Given the description of an element on the screen output the (x, y) to click on. 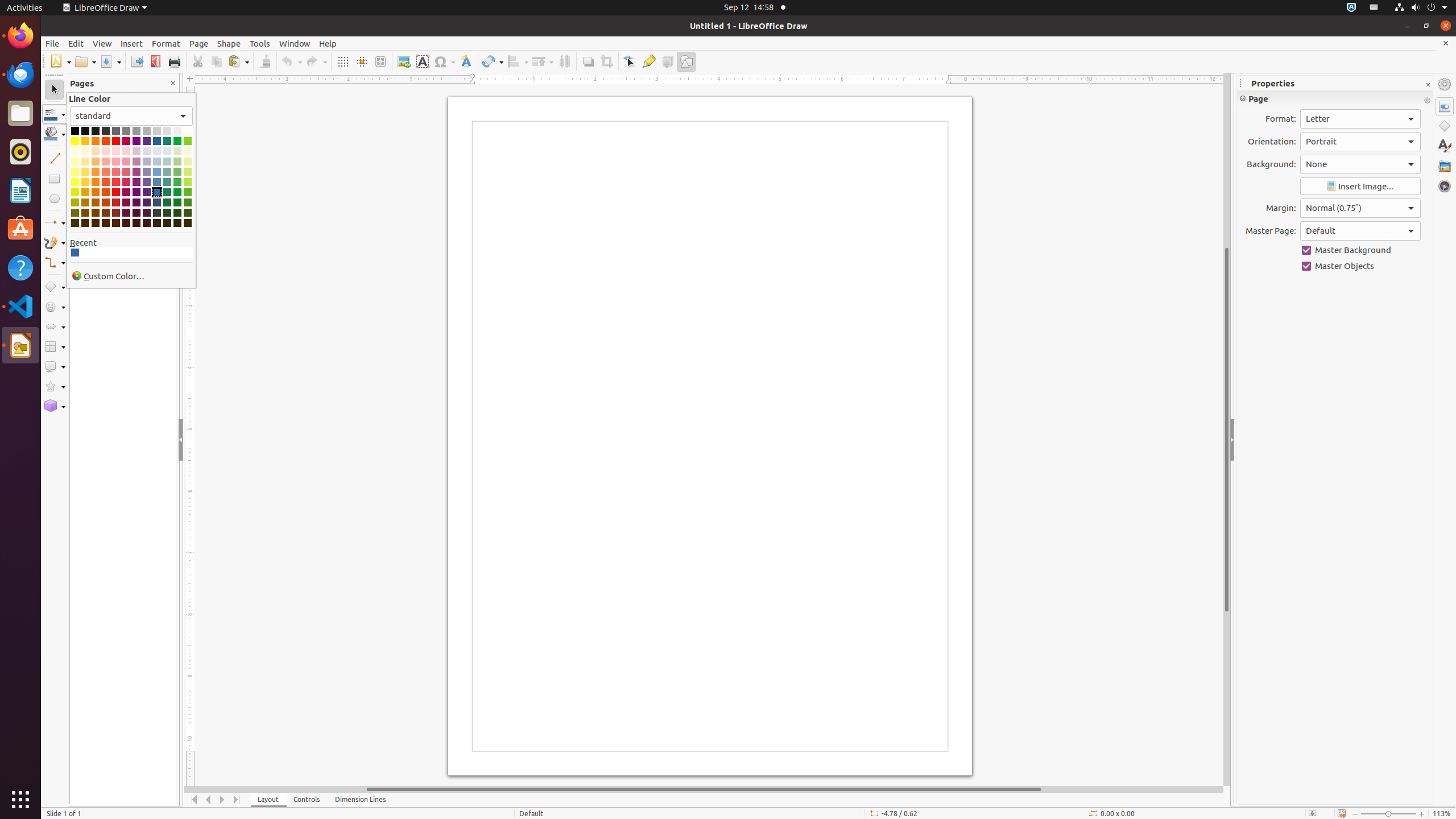
Dark Green 4 Element type: list-item (177, 222)
Light Gold 1 Element type: list-item (85, 181)
Dark Orange 2 Element type: list-item (95, 202)
Light Red 4 Element type: list-item (115, 151)
Dark Brick 2 Element type: list-item (105, 202)
